Given the description of an element on the screen output the (x, y) to click on. 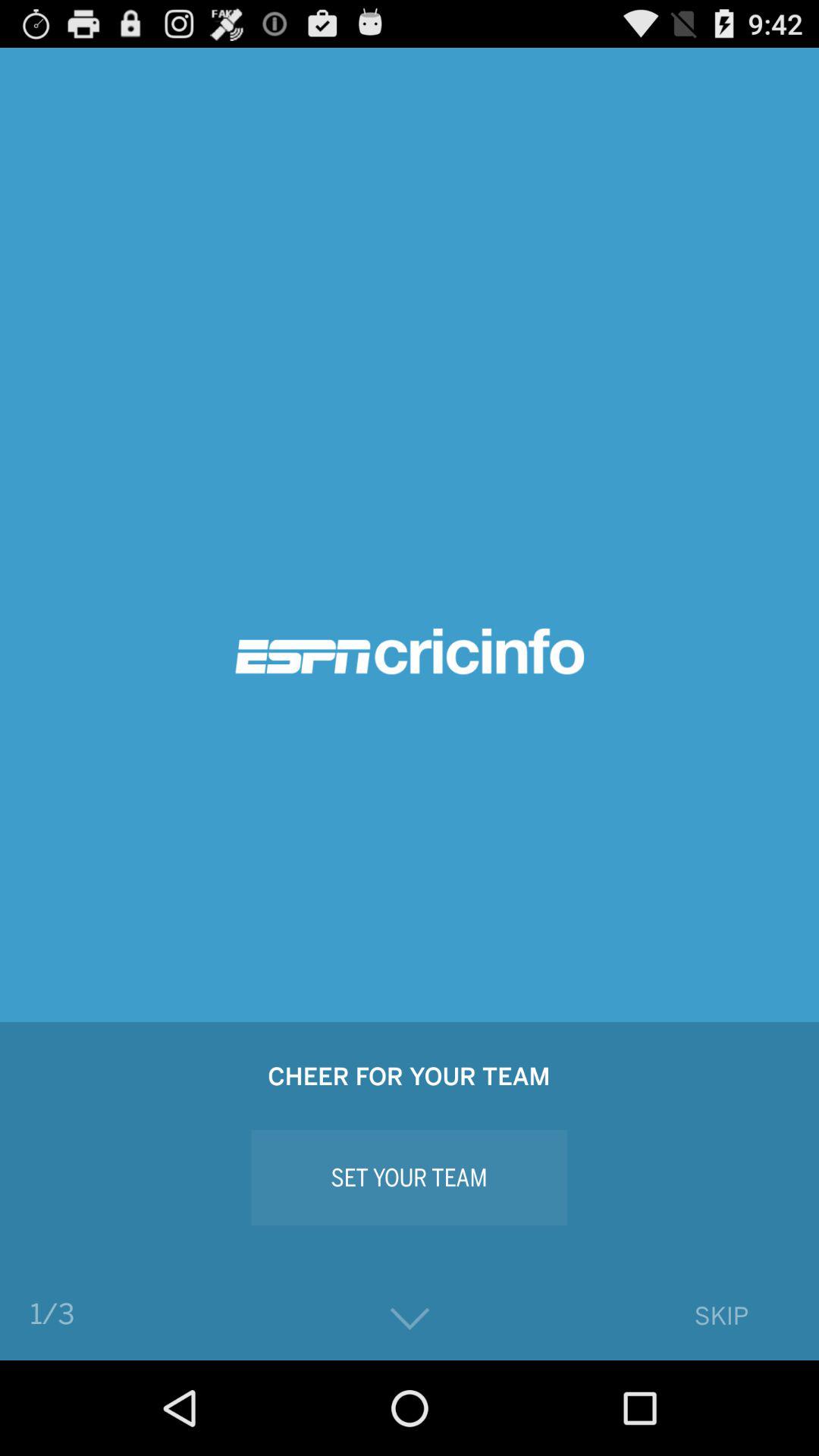
scroll to the skip icon (720, 1315)
